Given the description of an element on the screen output the (x, y) to click on. 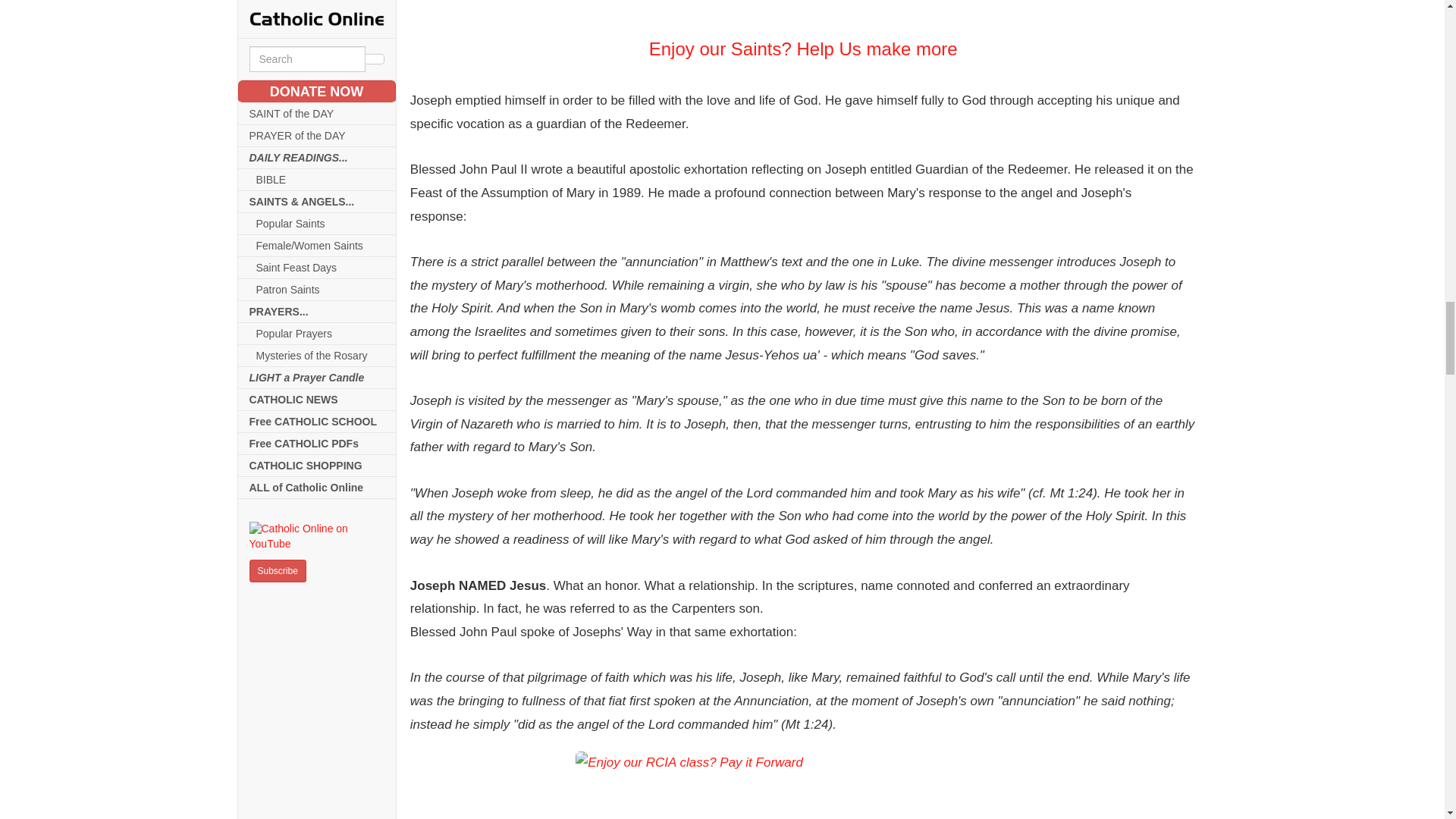
Enjoy our RCIA class? Pay it Forward (802, 785)
Enjoy our Saints? Help Us make more (802, 12)
